Given the description of an element on the screen output the (x, y) to click on. 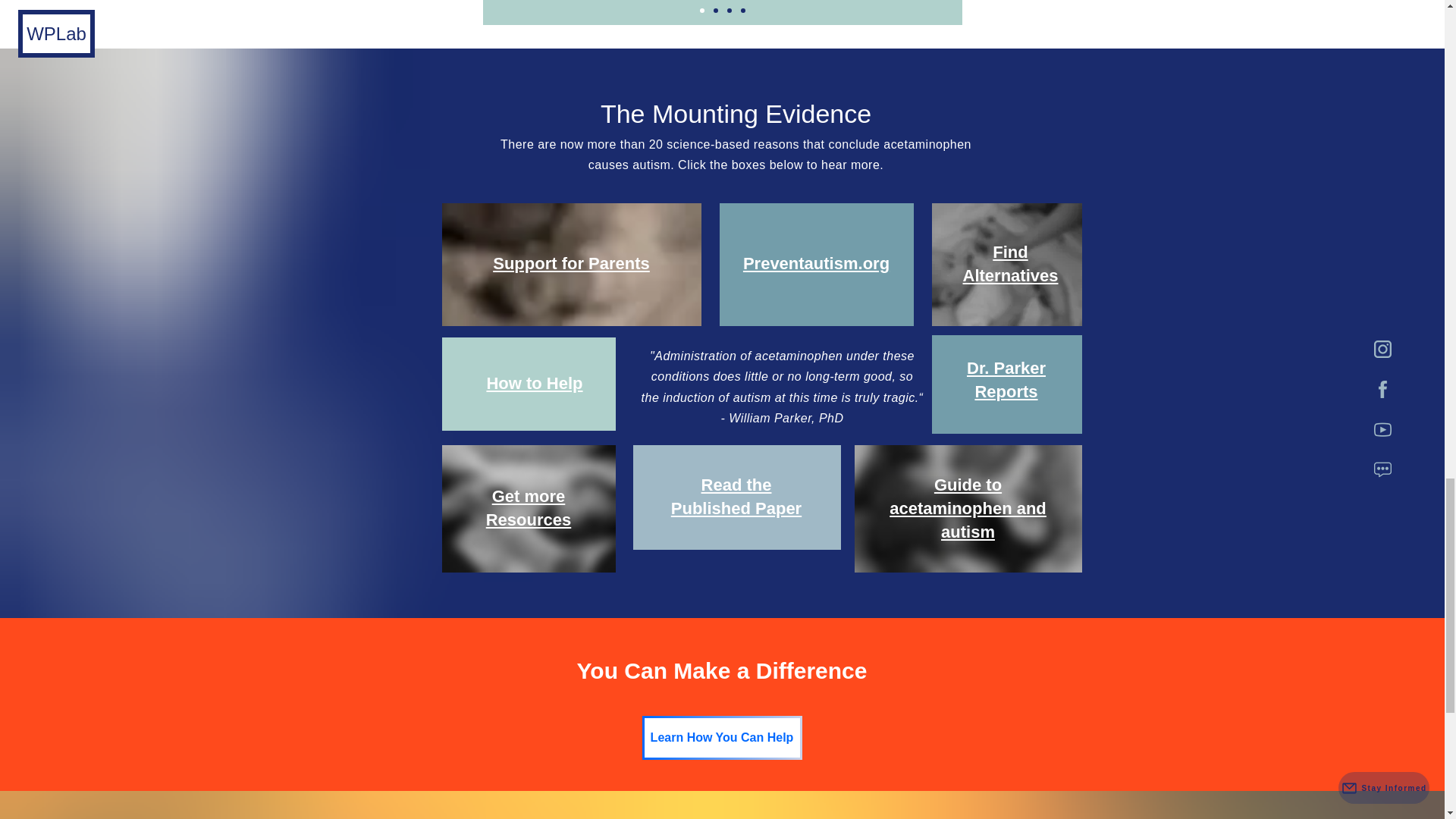
Learn How You Can Help (722, 737)
Read the Published Paper (736, 496)
Preventautism.org (815, 262)
Guide to acetaminophen and autism (967, 508)
Get more Resources (529, 507)
How to Help (534, 383)
Dr. Parker Reports (1005, 379)
Find Alternatives (1010, 263)
Support for Parents (571, 262)
